Given the description of an element on the screen output the (x, y) to click on. 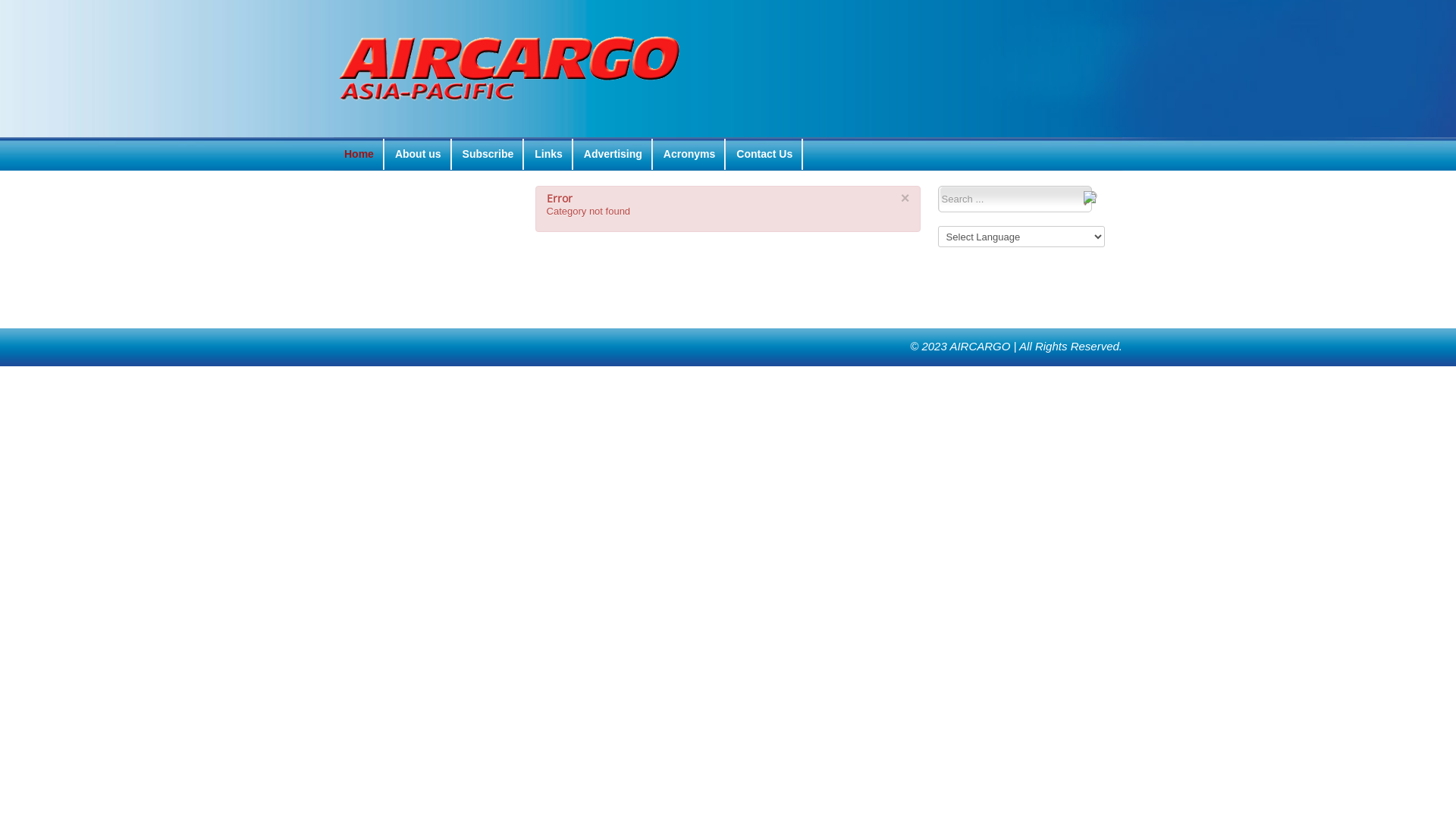
Acronyms Element type: text (688, 153)
Advertising Element type: text (612, 153)
Links Element type: text (548, 153)
About us Element type: text (417, 153)
Subscribe Element type: text (487, 153)
Home Element type: text (358, 153)
Contact Us Element type: text (764, 153)
